Given the description of an element on the screen output the (x, y) to click on. 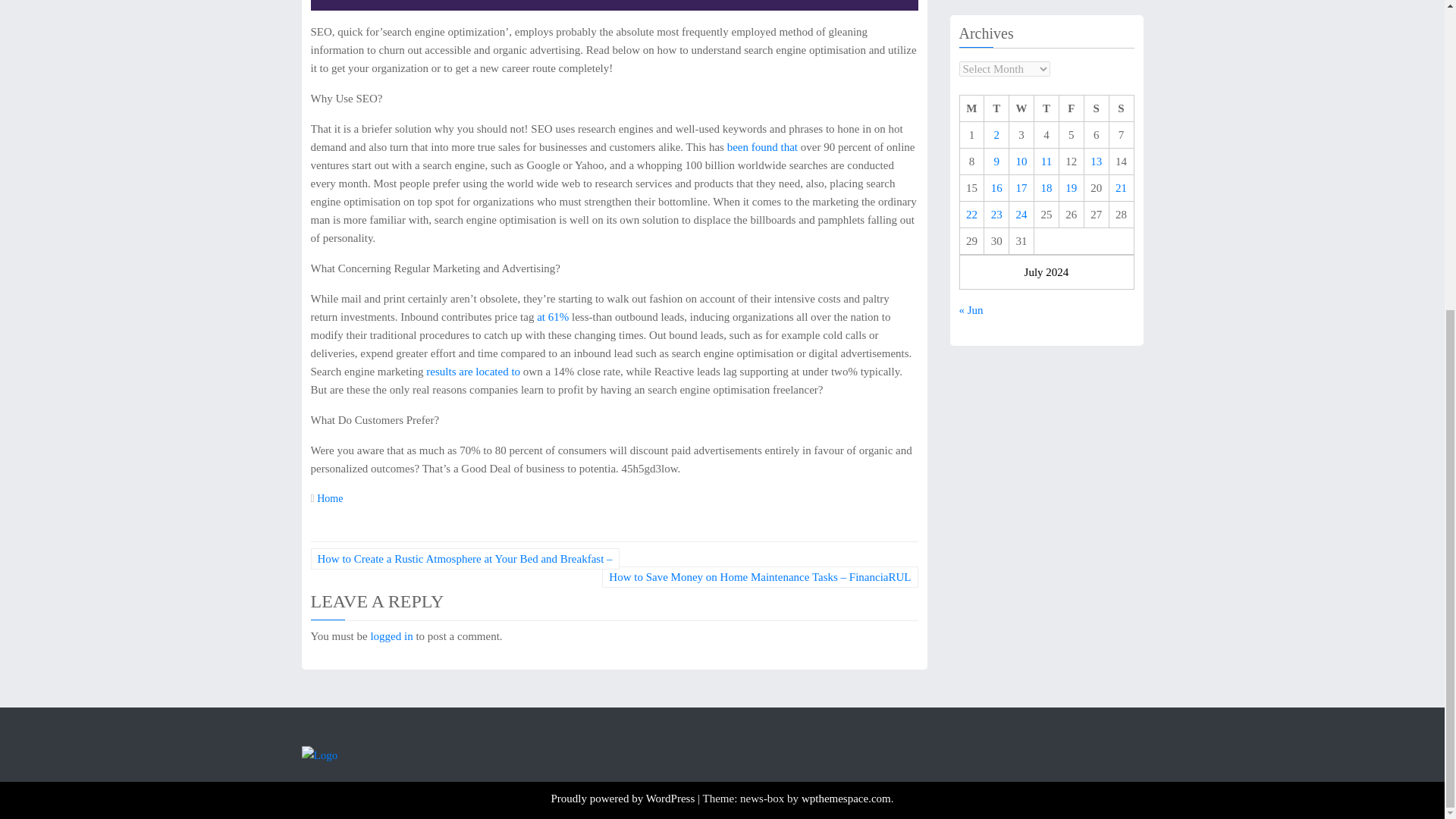
been found that (763, 146)
Home (329, 498)
wpthemespace.com (846, 798)
logged in (390, 635)
results are located to (474, 371)
Proudly powered by WordPress (623, 798)
